Given the description of an element on the screen output the (x, y) to click on. 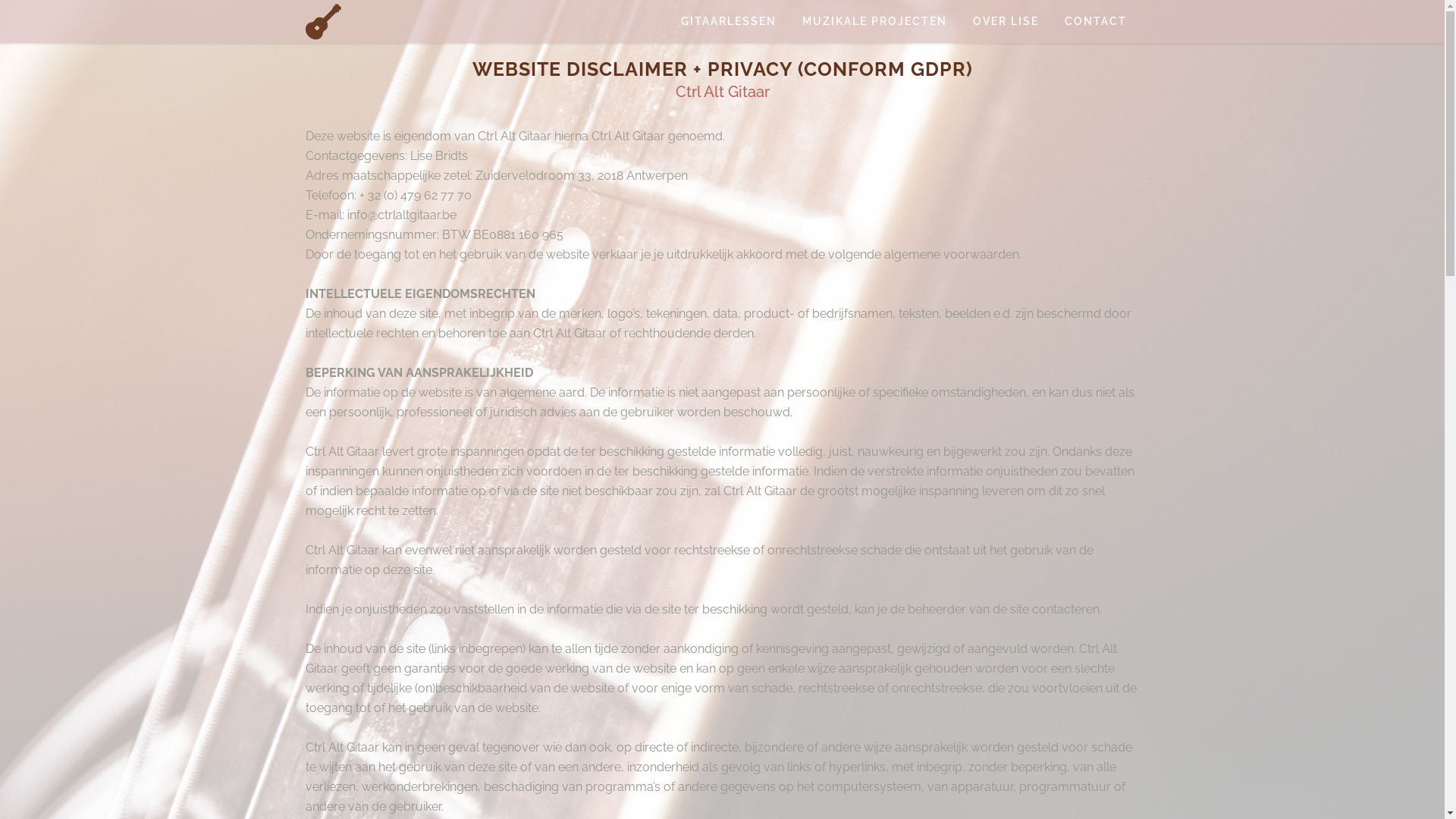
CONTACT Element type: text (1095, 21)
MUZIKALE PROJECTEN Element type: text (873, 21)
OVER LISE Element type: text (1005, 21)
GITAARLESSEN Element type: text (727, 21)
